Given the description of an element on the screen output the (x, y) to click on. 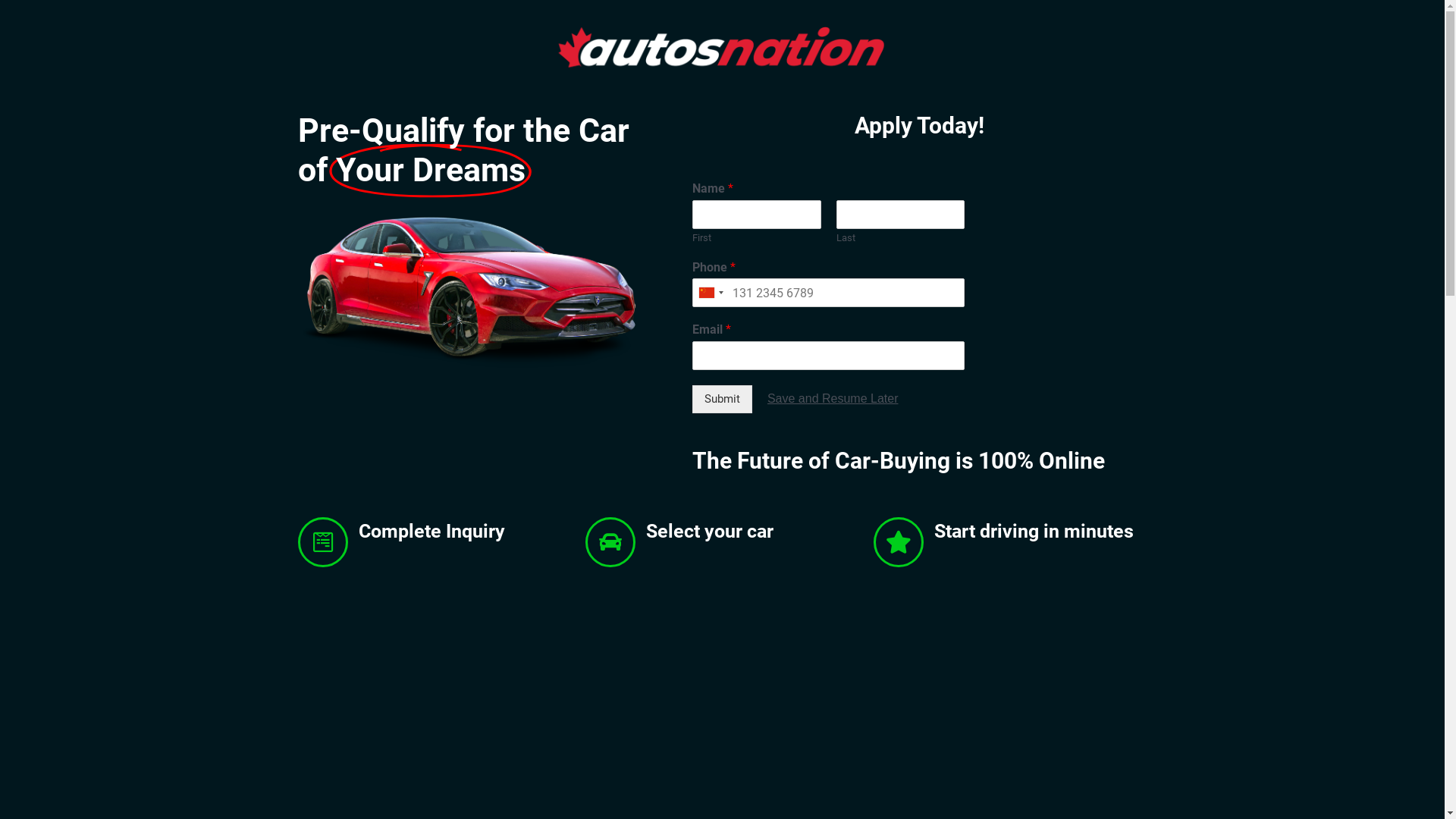
Save and Resume Later Element type: text (832, 398)
Submit Element type: text (722, 399)
